Given the description of an element on the screen output the (x, y) to click on. 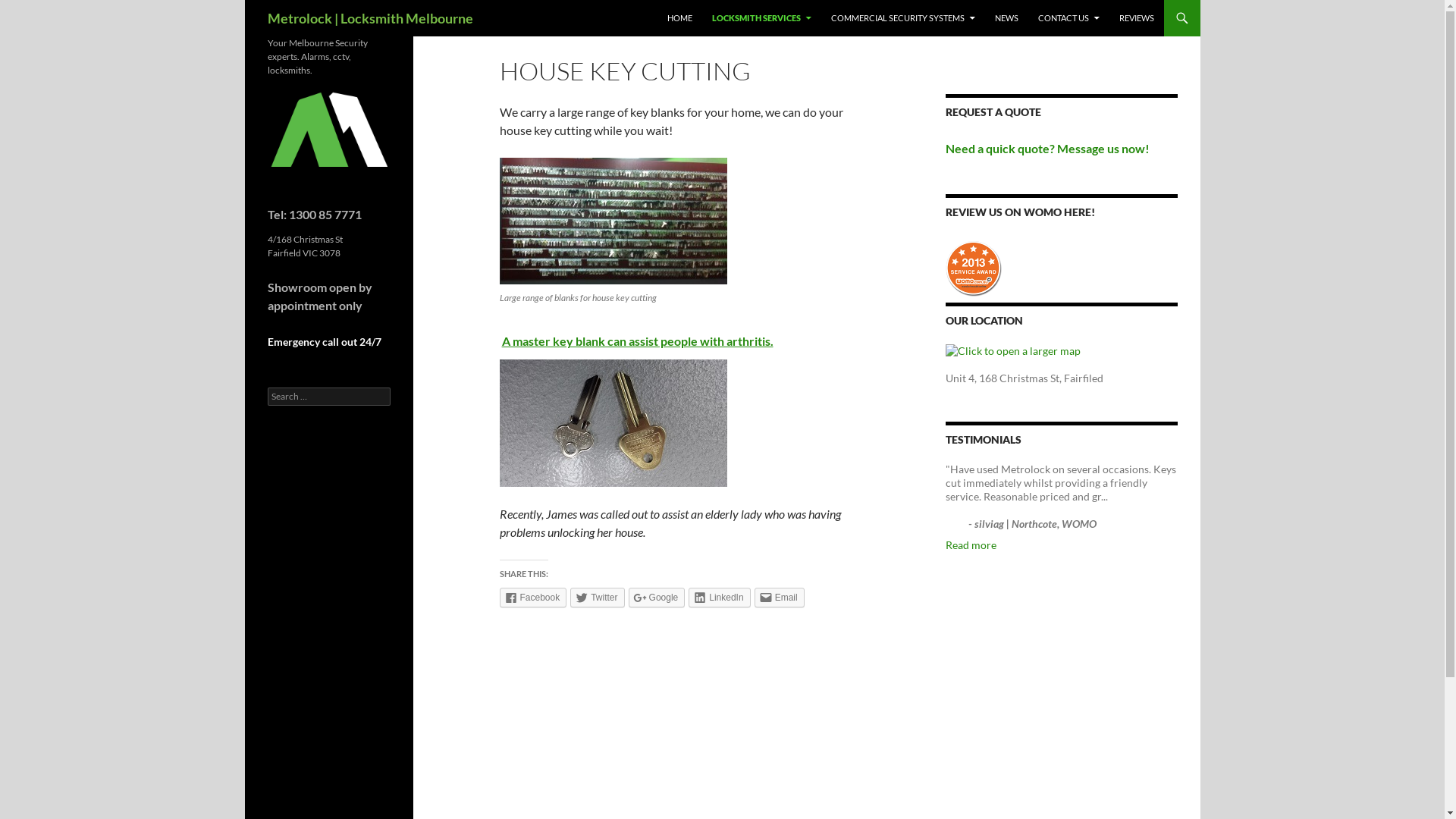
Emergency call out 24/7 Element type: text (323, 341)
Twitter Element type: text (597, 597)
Metrolock | Locksmith Melbourne Element type: text (369, 18)
NEWS Element type: text (1006, 18)
Read more Element type: text (969, 544)
Click to open a larger map Element type: hover (1011, 349)
A master key blank can assist people with arthritis. Element type: text (637, 340)
REVIEWS Element type: text (1136, 18)
Click to open a larger map Element type: hover (1011, 350)
Email Element type: text (779, 597)
LinkedIn Element type: text (718, 597)
home locksmith Element type: hover (327, 128)
HOME Element type: text (679, 18)
COMMERCIAL SECURITY SYSTEMS Element type: text (903, 18)
Google Element type: text (656, 597)
LOCKSMITH SERVICES Element type: text (760, 18)
Facebook Element type: text (532, 597)
Need a quick quote? Message us now! Element type: text (1046, 148)
CONTACT US Element type: text (1067, 18)
Search Element type: text (29, 9)
